Given the description of an element on the screen output the (x, y) to click on. 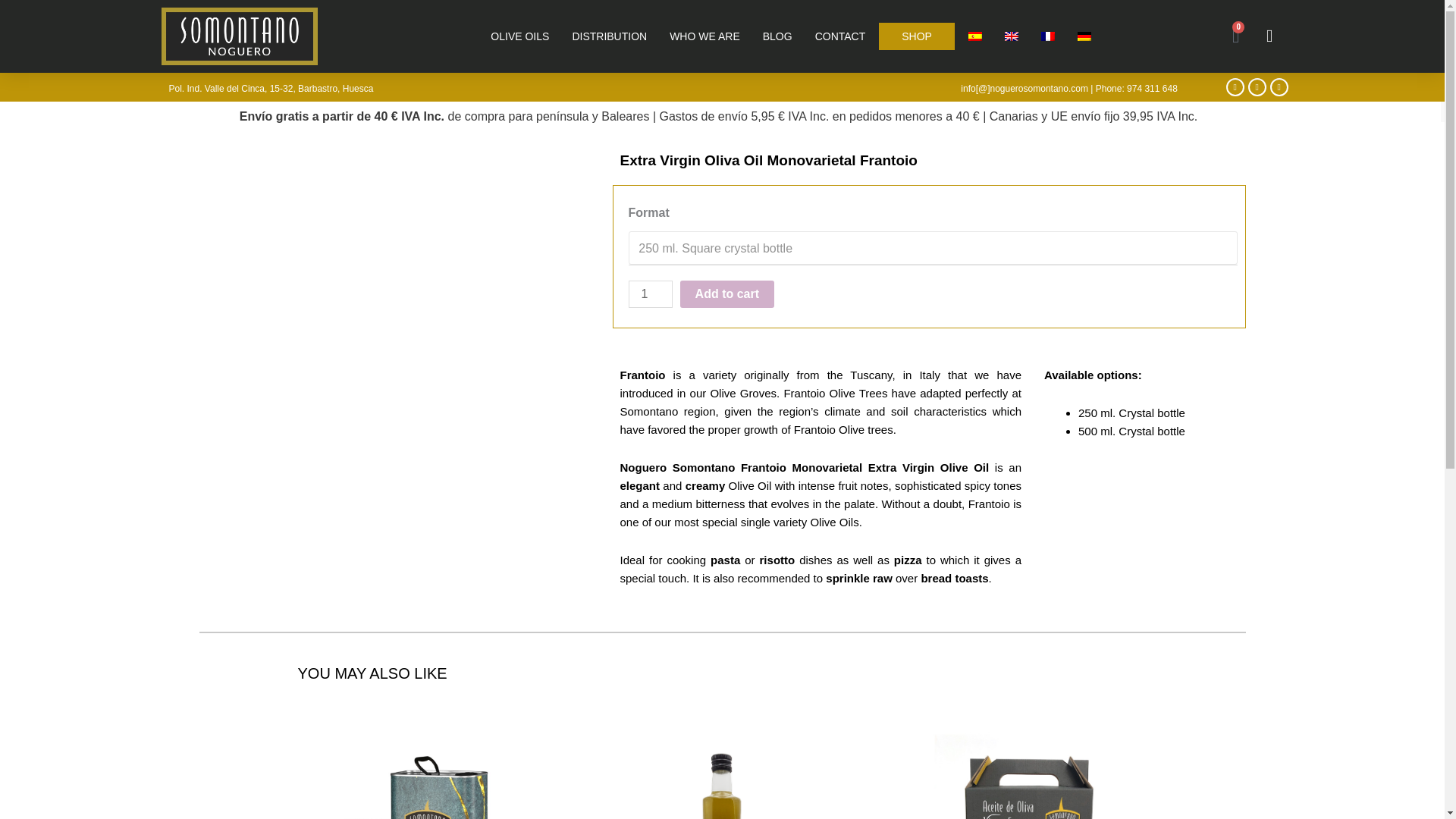
SHOP (917, 35)
0 (1235, 35)
WHO WE ARE (705, 35)
DISTRIBUTION (609, 35)
1 (649, 293)
BLOG (778, 35)
CONTACT (840, 35)
OLIVE OILS (519, 35)
